Given the description of an element on the screen output the (x, y) to click on. 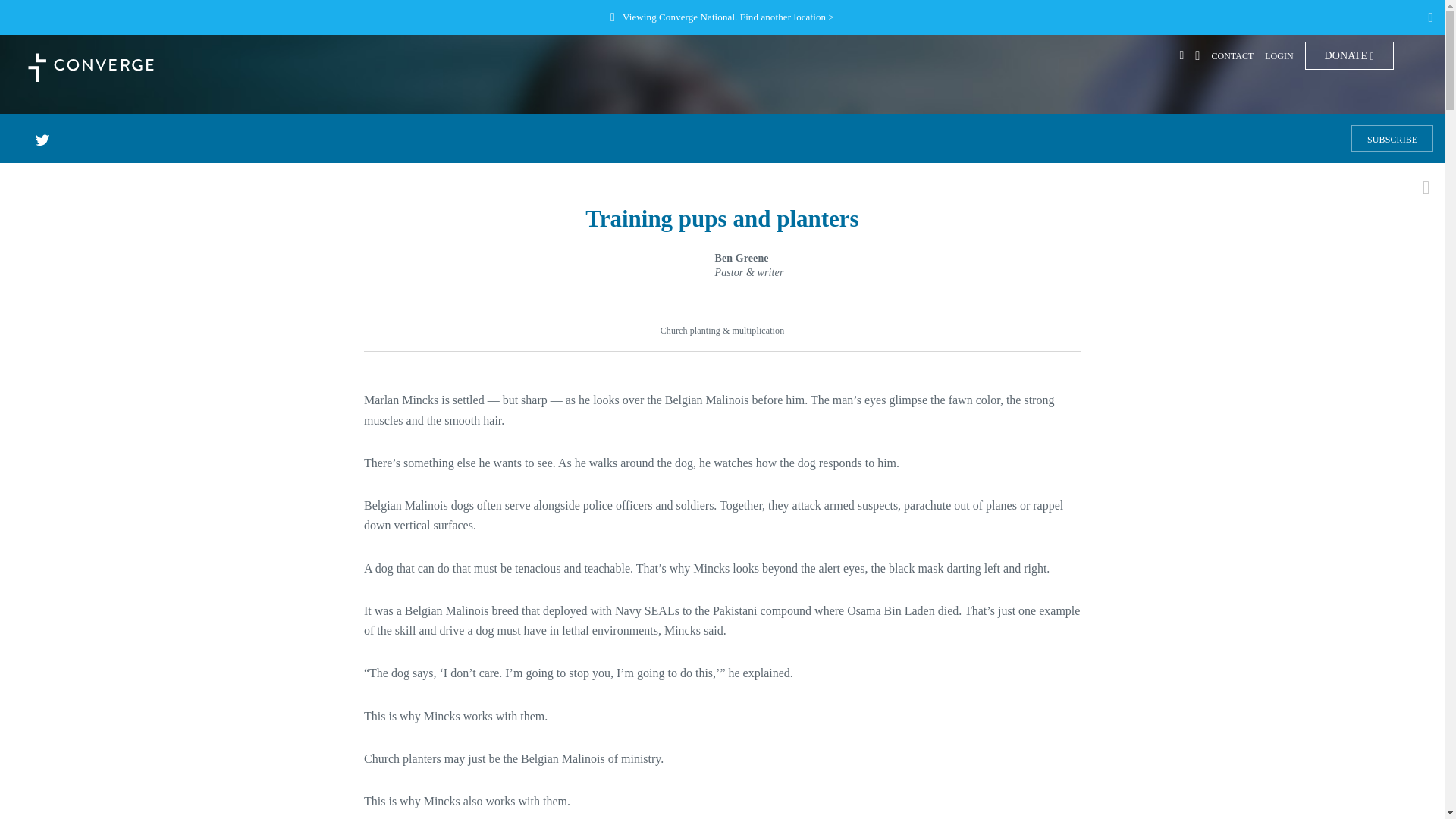
SUBSCRIBE (1391, 138)
DONATE (1348, 55)
CONTACT (1232, 56)
LOGIN (1278, 56)
